Given the description of an element on the screen output the (x, y) to click on. 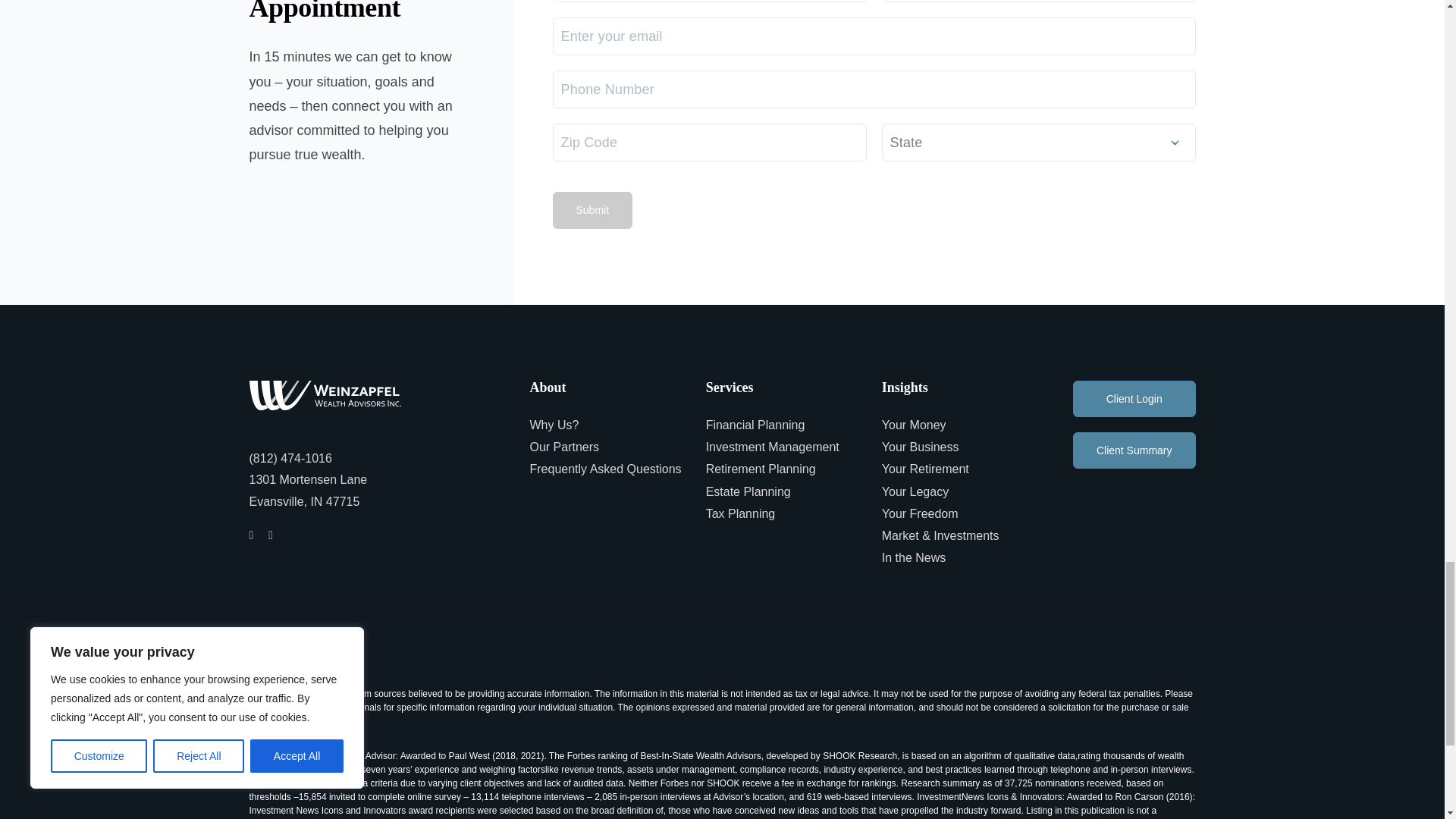
Submit (591, 209)
